Given the description of an element on the screen output the (x, y) to click on. 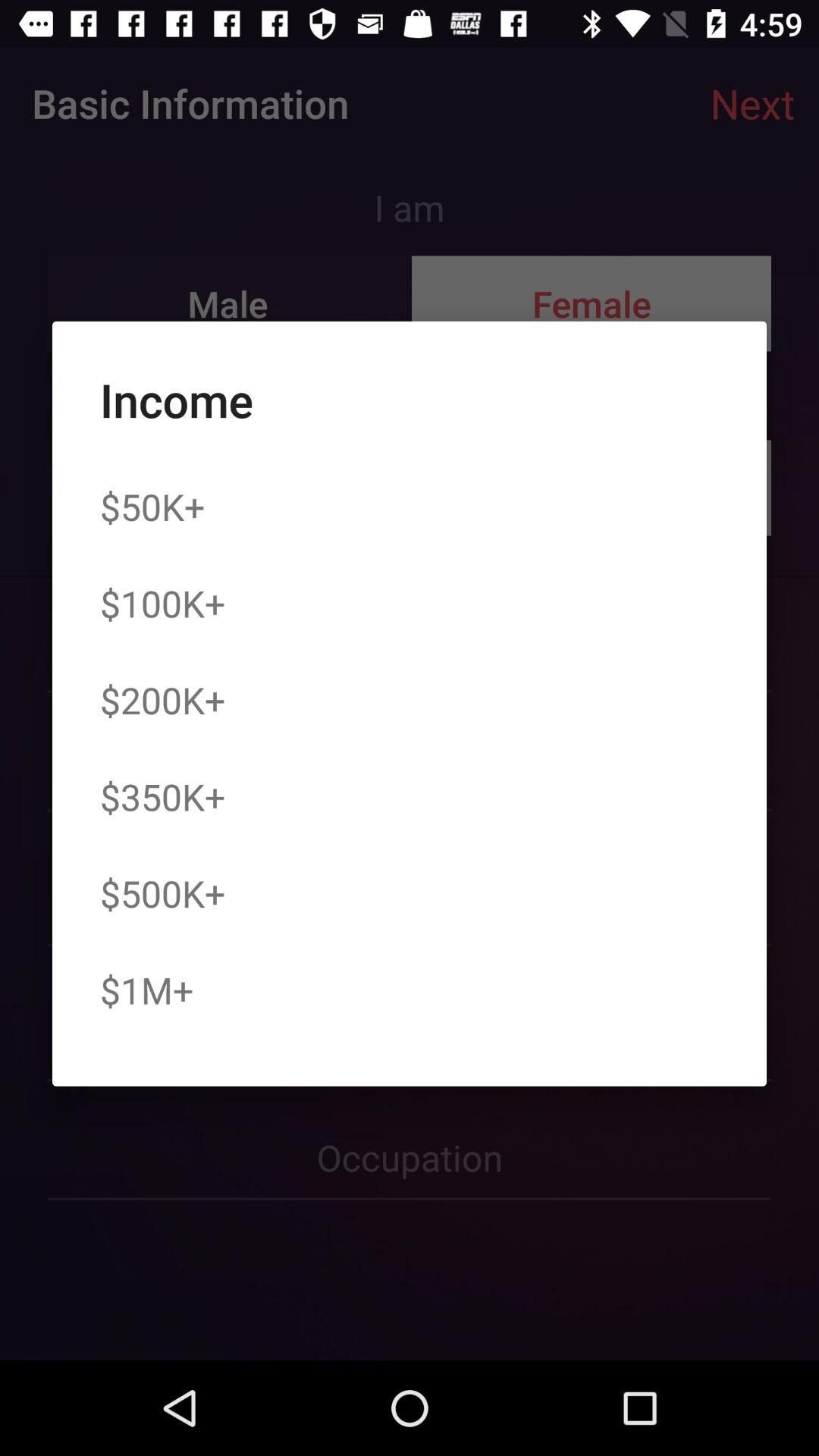
turn off icon below income icon (152, 506)
